Given the description of an element on the screen output the (x, y) to click on. 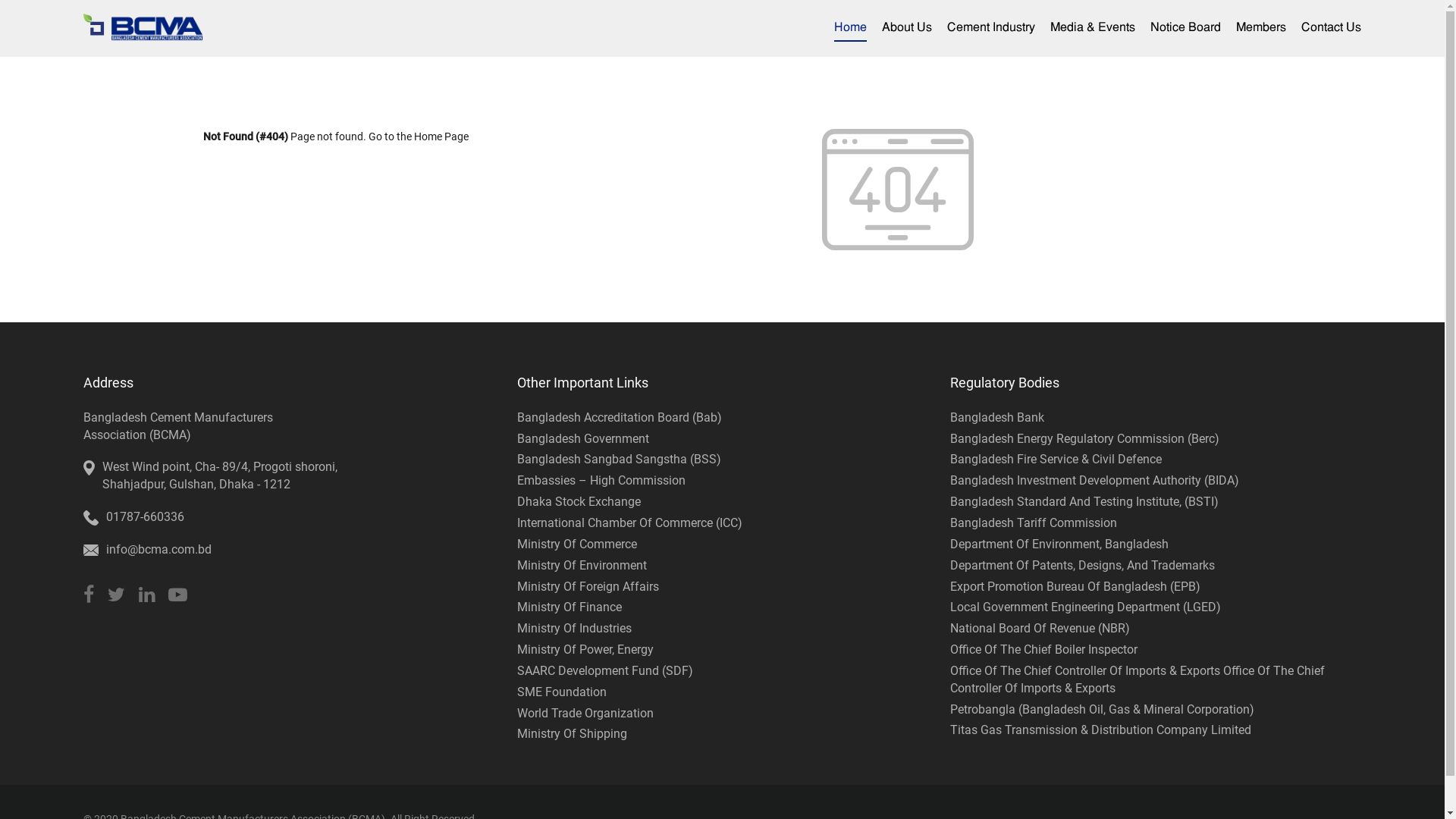
Bangladesh Investment Development Authority (BIDA) Element type: text (1094, 480)
Ministry Of Finance Element type: text (569, 606)
Bangladesh Bank Element type: text (997, 417)
Members Element type: text (1261, 28)
Department Of Environment, Bangladesh Element type: text (1059, 543)
World Trade Organization Element type: text (585, 713)
Notice Board Element type: text (1185, 28)
Titas Gas Transmission & Distribution Company Limited Element type: text (1100, 729)
International Chamber Of Commerce (ICC) Element type: text (629, 522)
Bangladesh Energy Regulatory Commission (Berc) Element type: text (1084, 438)
About Us Element type: text (906, 28)
Bangladesh Accreditation Board (Bab) Element type: text (619, 417)
Dhaka Stock Exchange Element type: text (578, 501)
SME Foundation Element type: text (561, 691)
Home Page Element type: text (441, 136)
Bangladesh Government Element type: text (583, 438)
Ministry Of Environment Element type: text (581, 565)
Bangladesh Sangbad Sangstha (BSS) Element type: text (619, 458)
Local Government Engineering Department (LGED) Element type: text (1085, 606)
Export Promotion Bureau Of Bangladesh (EPB) Element type: text (1075, 586)
Office Of The Chief Boiler Inspector Element type: text (1043, 649)
Media & Events Element type: text (1092, 28)
National Board Of Revenue (NBR) Element type: text (1039, 628)
Contact Us Element type: text (1331, 28)
Ministry Of Commerce Element type: text (577, 543)
SAARC Development Fund (SDF) Element type: text (605, 670)
Department Of Patents, Designs, And Trademarks Element type: text (1082, 565)
Bangladesh Tariff Commission Element type: text (1033, 522)
01787-660336 Element type: text (145, 517)
Ministry Of Shipping Element type: text (572, 733)
Bangladesh Fire Service & Civil Defence Element type: text (1055, 458)
Cement Industry Element type: text (991, 28)
Ministry Of Power, Energy Element type: text (585, 649)
Bangladesh Standard And Testing Institute, (BSTI) Element type: text (1084, 501)
Home Element type: text (850, 28)
Petrobangla (Bangladesh Oil, Gas & Mineral Corporation) Element type: text (1102, 709)
info@bcma.com.bd Element type: text (158, 549)
Ministry Of Foreign Affairs Element type: text (587, 586)
Ministry Of Industries Element type: text (574, 628)
